Given the description of an element on the screen output the (x, y) to click on. 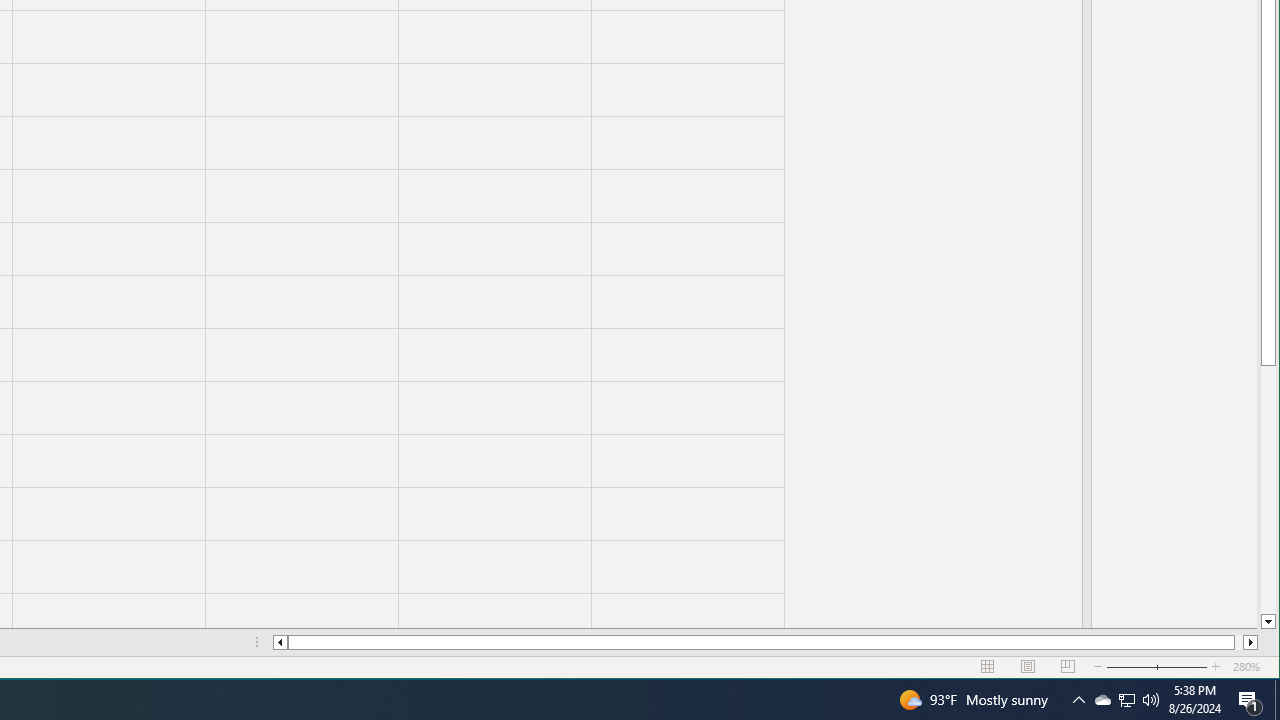
Notification Chevron (1078, 699)
Action Center, 1 new notification (1250, 699)
Q2790: 100% (1151, 699)
User Promoted Notification Area (1126, 699)
